Given the description of an element on the screen output the (x, y) to click on. 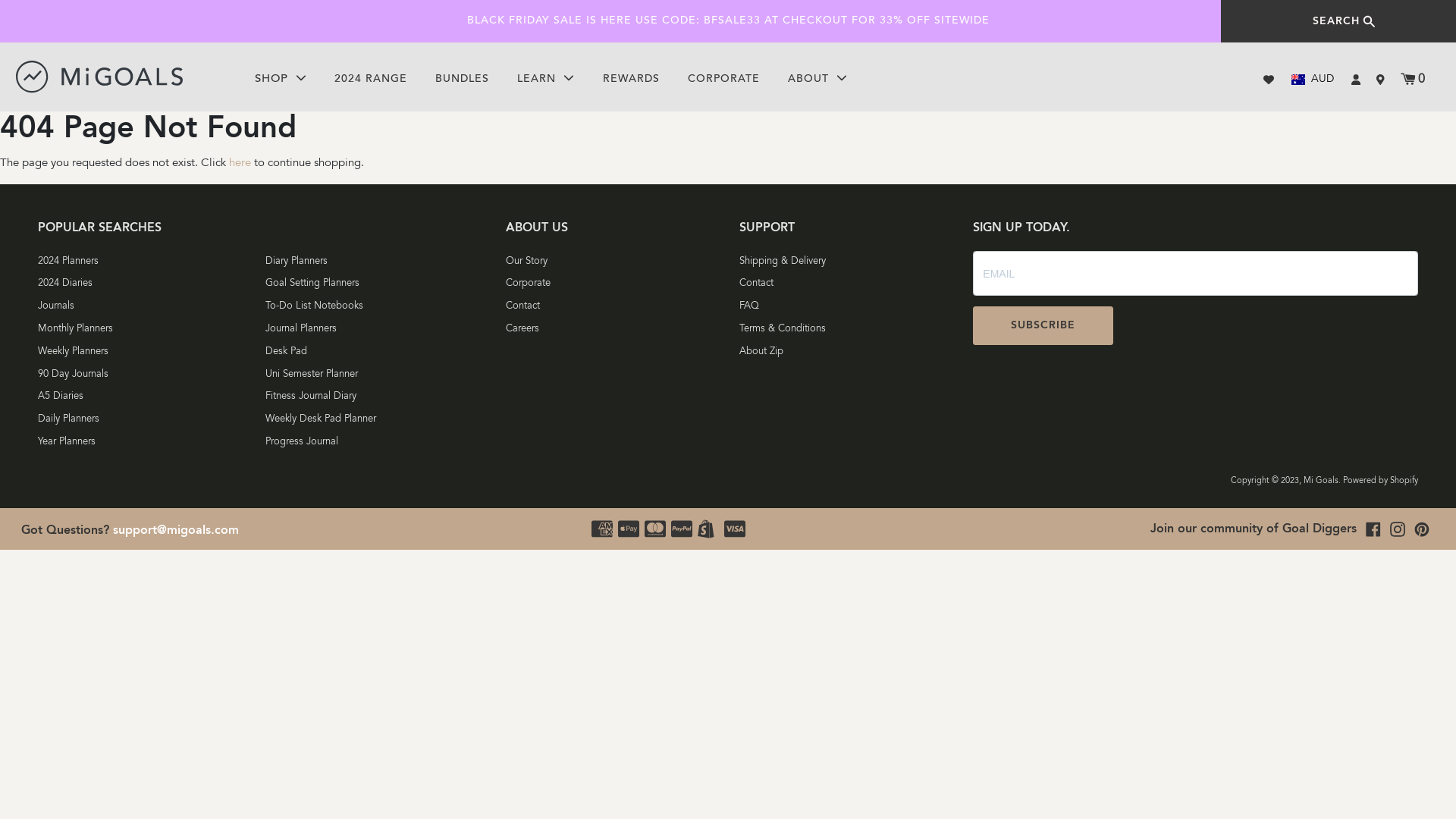
Mi Goals Element type: text (1320, 480)
ABOUT Element type: text (817, 79)
To-Do List Notebooks Element type: text (374, 307)
0 Element type: text (1411, 79)
Progress Journal Element type: text (374, 443)
Contact Element type: text (844, 284)
LEARN Element type: text (545, 79)
REWARDS Element type: text (631, 79)
Desk Pad Element type: text (374, 352)
Skip to content Element type: text (0, 0)
Weekly Desk Pad Planner Element type: text (374, 420)
A5 Diaries Element type: text (146, 397)
Terms & Conditions Element type: text (844, 330)
Journal Planners Element type: text (374, 330)
Monthly Planners Element type: text (146, 330)
90 Day Journals Element type: text (146, 375)
Contact Element type: text (610, 307)
2024 Planners Element type: text (146, 262)
Uni Semester Planner Element type: text (374, 375)
Year Planners Element type: text (146, 443)
support@migoals.com Element type: text (175, 530)
Fitness Journal Diary Element type: text (374, 397)
AUD Element type: text (1312, 79)
Diary Planners Element type: text (374, 262)
Shipping & Delivery Element type: text (844, 262)
here Element type: text (240, 163)
BUNDLES Element type: text (461, 79)
Careers Element type: text (610, 330)
Goal Setting Planners Element type: text (374, 284)
SUBSCRIBE Element type: text (1042, 325)
2024 RANGE Element type: text (370, 79)
SHOP Element type: text (280, 79)
2024 Diaries Element type: text (146, 284)
CORPORATE Element type: text (723, 79)
FAQ Element type: text (844, 307)
Our Story Element type: text (610, 262)
Daily Planners Element type: text (146, 420)
Corporate Element type: text (610, 284)
About Zip Element type: text (844, 352)
Journals Element type: text (146, 307)
Powered by Shopify Element type: text (1380, 480)
Weekly Planners Element type: text (146, 352)
